Given the description of an element on the screen output the (x, y) to click on. 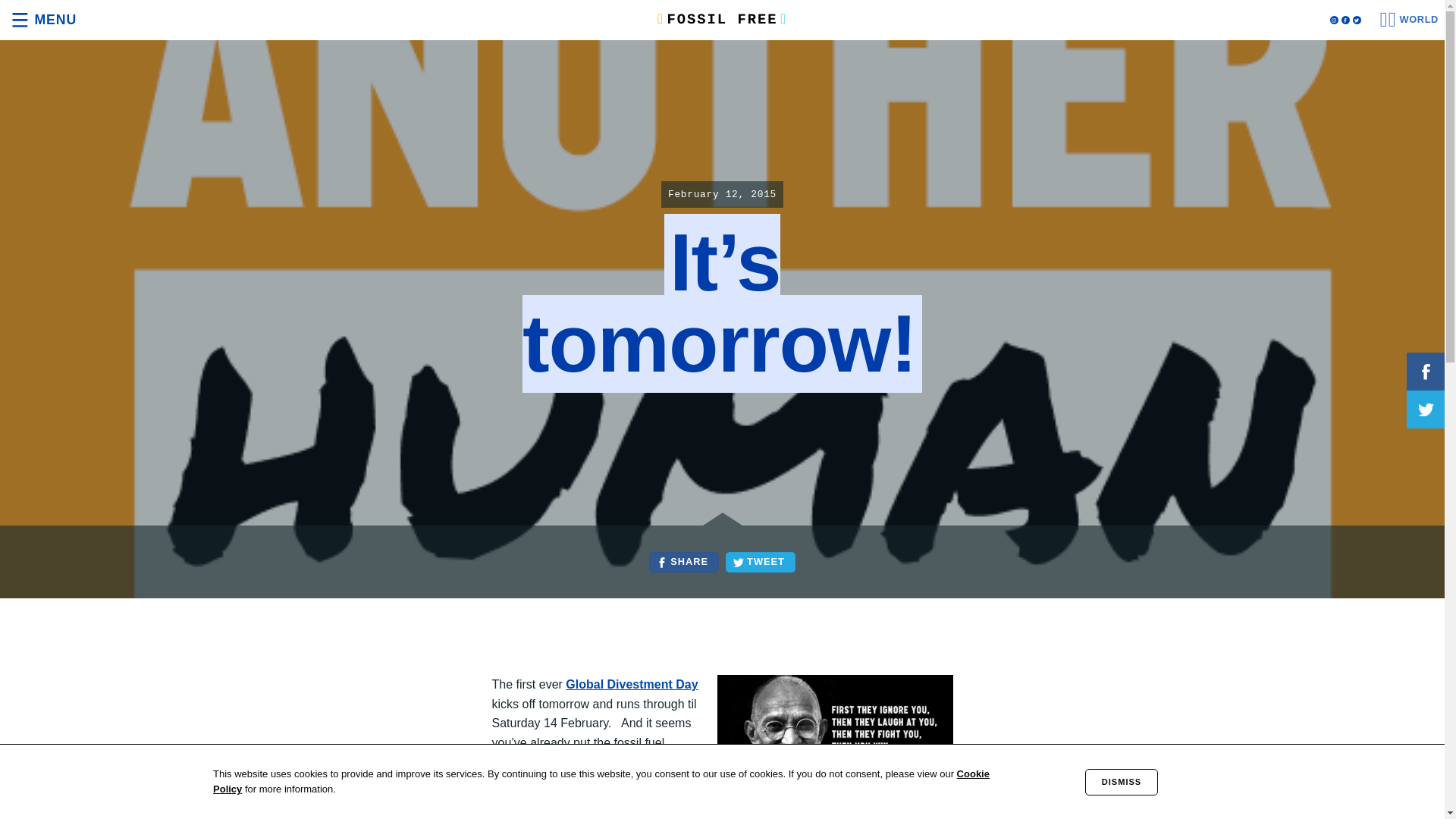
FOSSIL FREE (722, 20)
TWEET (759, 562)
MENU (41, 20)
WORLD (1409, 20)
SHARE (683, 562)
